Given the description of an element on the screen output the (x, y) to click on. 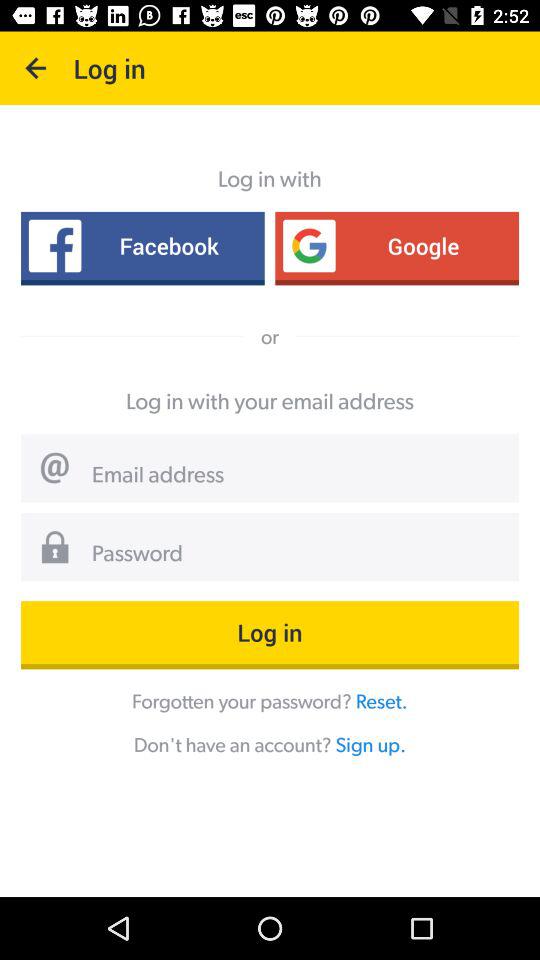
tap the item next to google (142, 245)
